Given the description of an element on the screen output the (x, y) to click on. 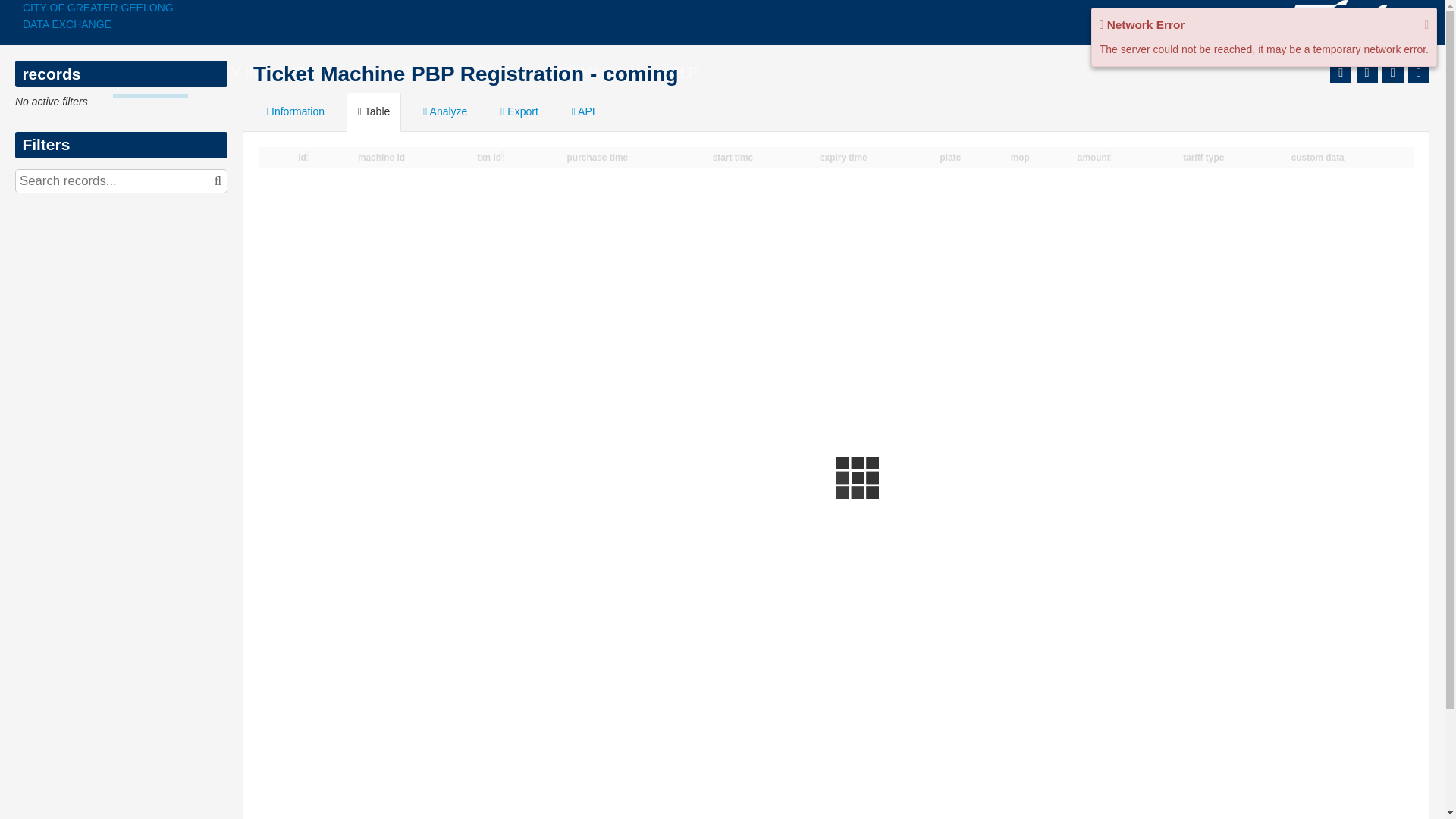
Signup Element type: text (1350, 22)
HOME Element type: text (71, 73)
Export Element type: text (519, 111)
DATA Element type: text (150, 74)
Table Element type: text (373, 111)
CITY INSIGHTS Element type: text (260, 73)
sort Element type: hover (309, 155)
API Element type: text (583, 111)
CITY API Element type: text (488, 73)
ANALYSE Element type: text (386, 73)
Login Element type: text (1405, 22)
HELP Element type: text (678, 73)
sort Element type: hover (1113, 155)
Analyze Element type: text (444, 111)
Information Element type: text (294, 111)
CITY OF GREATER GEELONG
DATA EXCHANGE Element type: text (250, 16)
PRIVACY Element type: text (589, 73)
sort Element type: hover (504, 155)
